Given the description of an element on the screen output the (x, y) to click on. 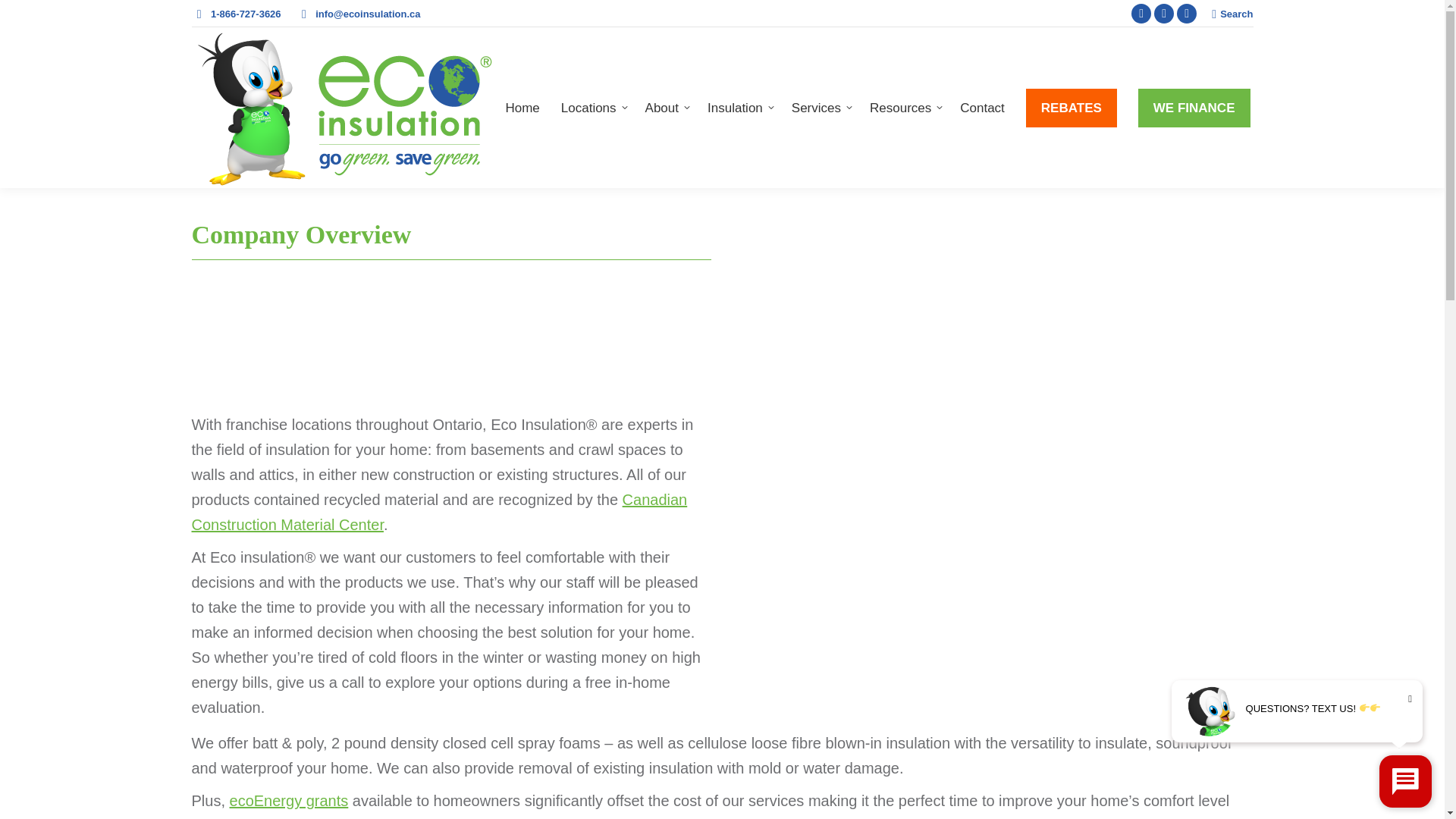
Go! (24, 16)
Facebook page opens in new window (1141, 13)
X page opens in new window (1163, 13)
Canadian Construction Material Center (438, 512)
Rss page opens in new window (1186, 13)
X page opens in new window (1163, 13)
Rss page opens in new window (1186, 13)
Facebook page opens in new window (1141, 13)
Search (1231, 12)
